Given the description of an element on the screen output the (x, y) to click on. 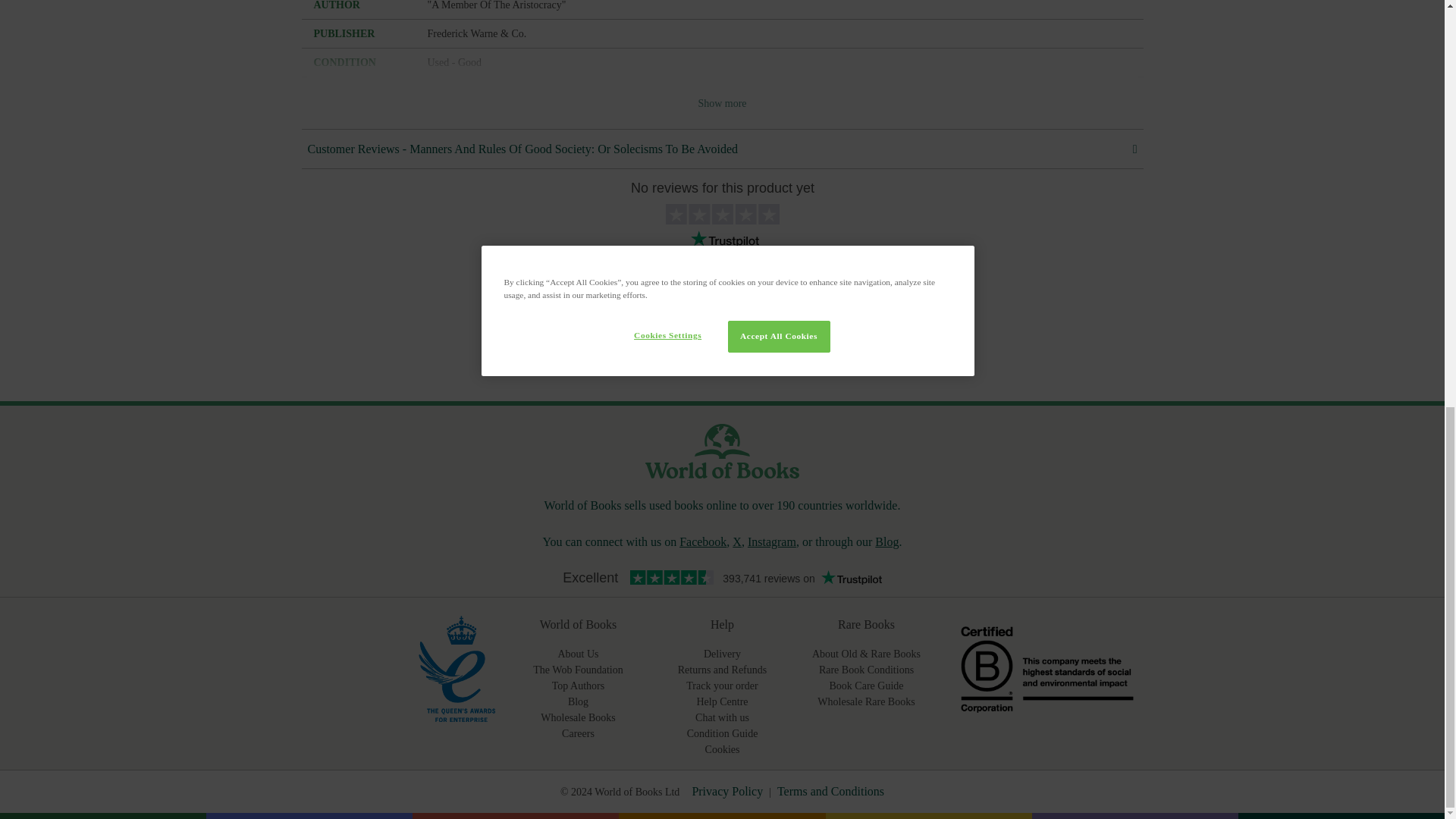
Show more (721, 338)
Show more (721, 103)
